Given the description of an element on the screen output the (x, y) to click on. 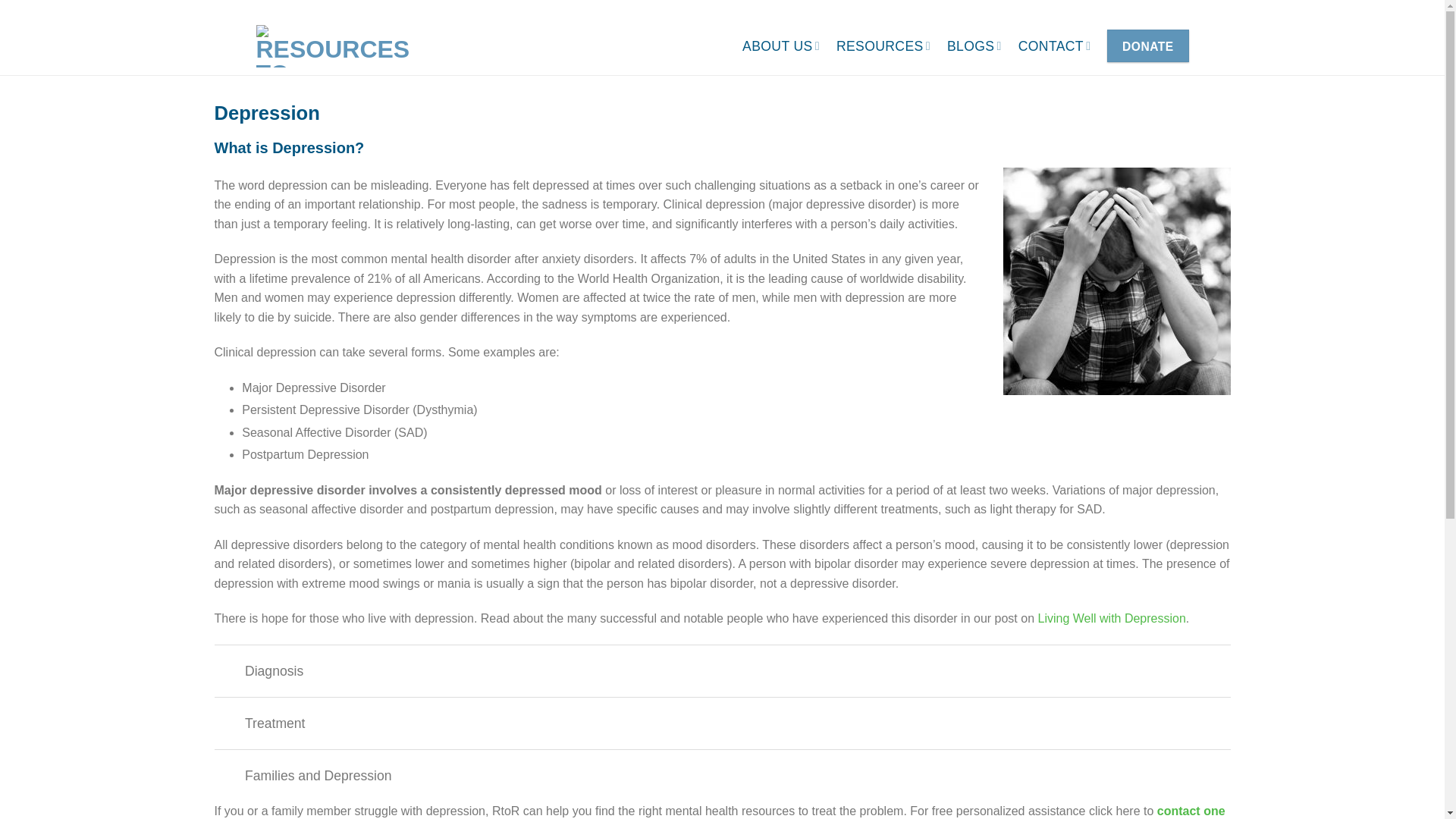
RESOURCES (882, 45)
DONATE (1147, 45)
BLOGS (974, 45)
Diagnosis (722, 670)
Resources to Recover - Gateway to Mental Health Services (335, 45)
Treatment (722, 722)
Living Well with Depression (1110, 617)
Families and Depression (722, 775)
ABOUT US (780, 45)
